Given the description of an element on the screen output the (x, y) to click on. 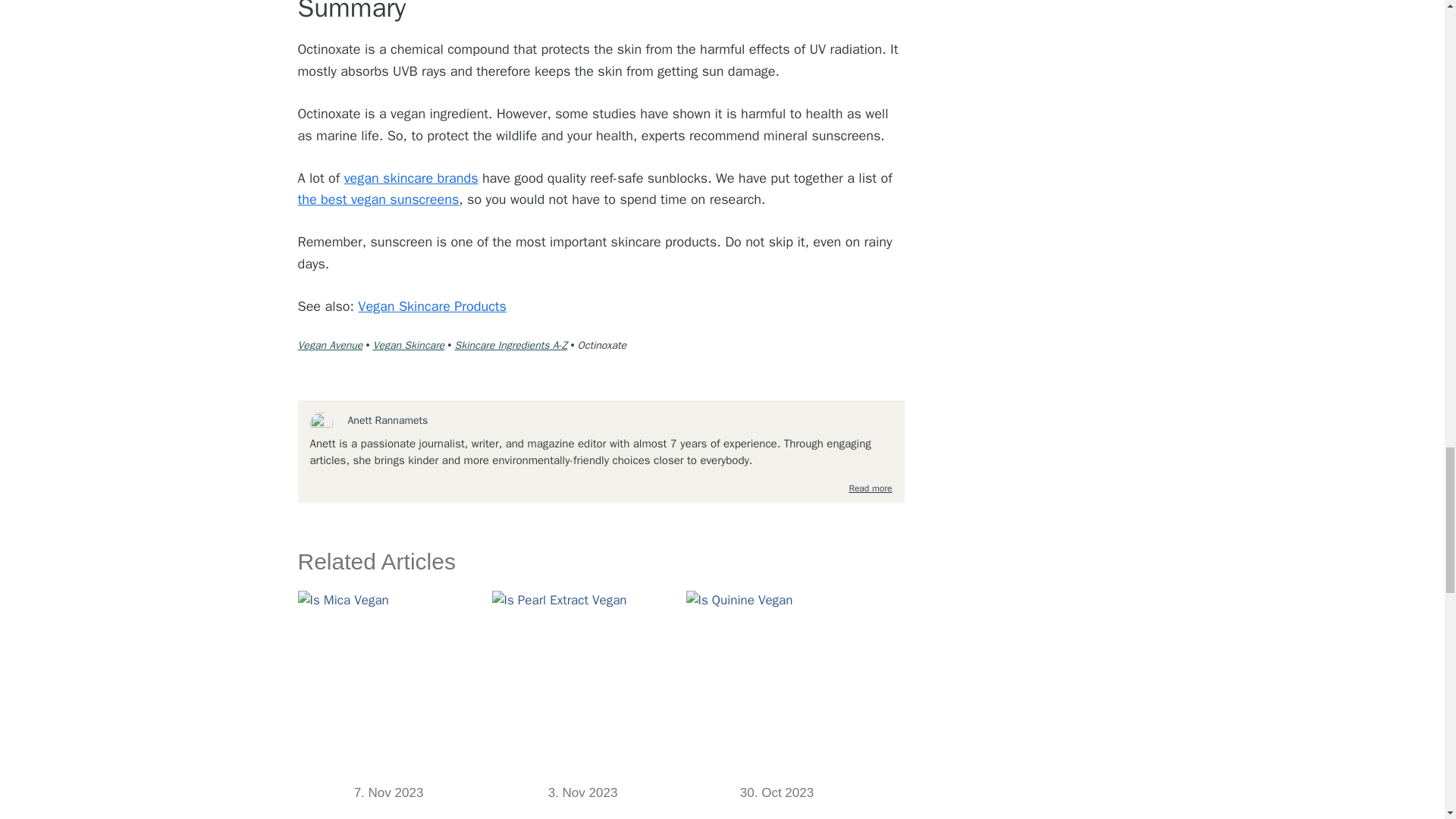
Read more (869, 488)
